Given the description of an element on the screen output the (x, y) to click on. 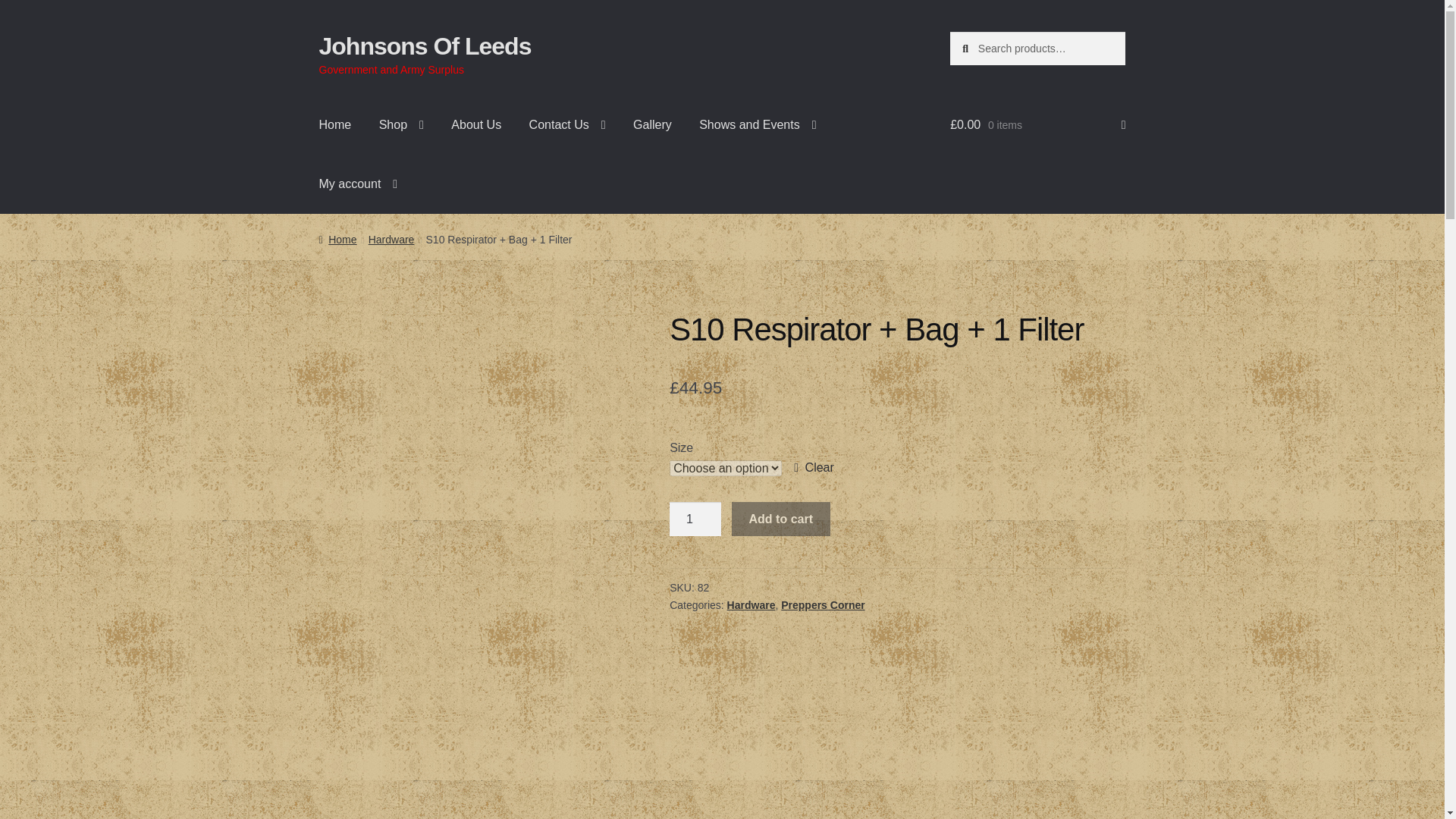
Shop (400, 124)
About Us (476, 124)
Gallery (652, 124)
Shows and Events (757, 124)
1 (694, 519)
My account (358, 183)
Contact Us (566, 124)
Home (335, 124)
